Given the description of an element on the screen output the (x, y) to click on. 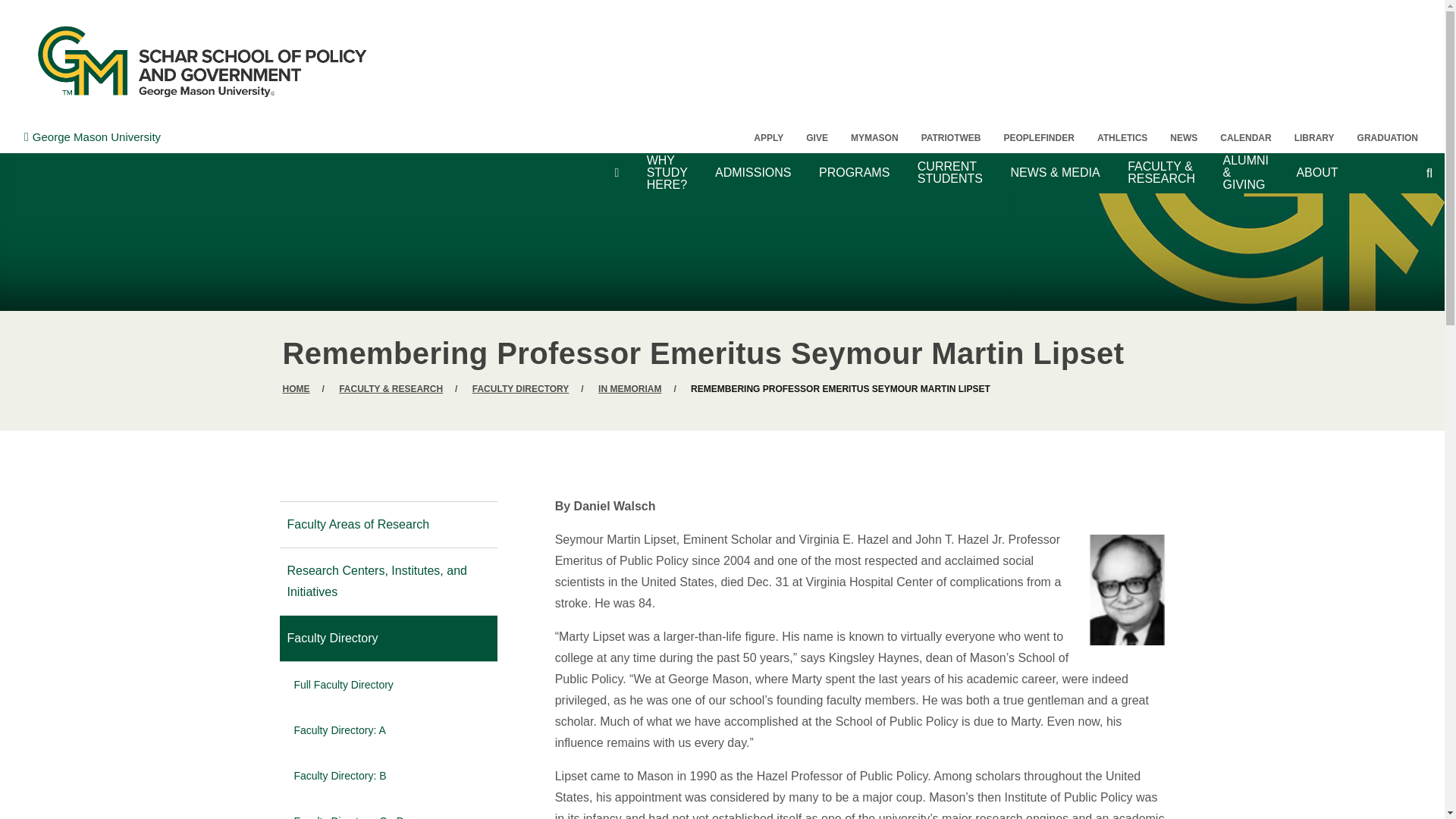
Home (202, 60)
ADMISSIONS (753, 173)
CALENDAR (1245, 137)
PEOPLEFINDER (1039, 137)
ATHLETICS (1122, 137)
APPLY (768, 137)
SEARCH (1399, 163)
NEWS (1183, 137)
GIVE (817, 137)
GRADUATION (1387, 137)
PATRIOTWEB (951, 137)
George Mason University (92, 136)
MYMASON (875, 137)
WHY STUDY HERE? (667, 173)
